Given the description of an element on the screen output the (x, y) to click on. 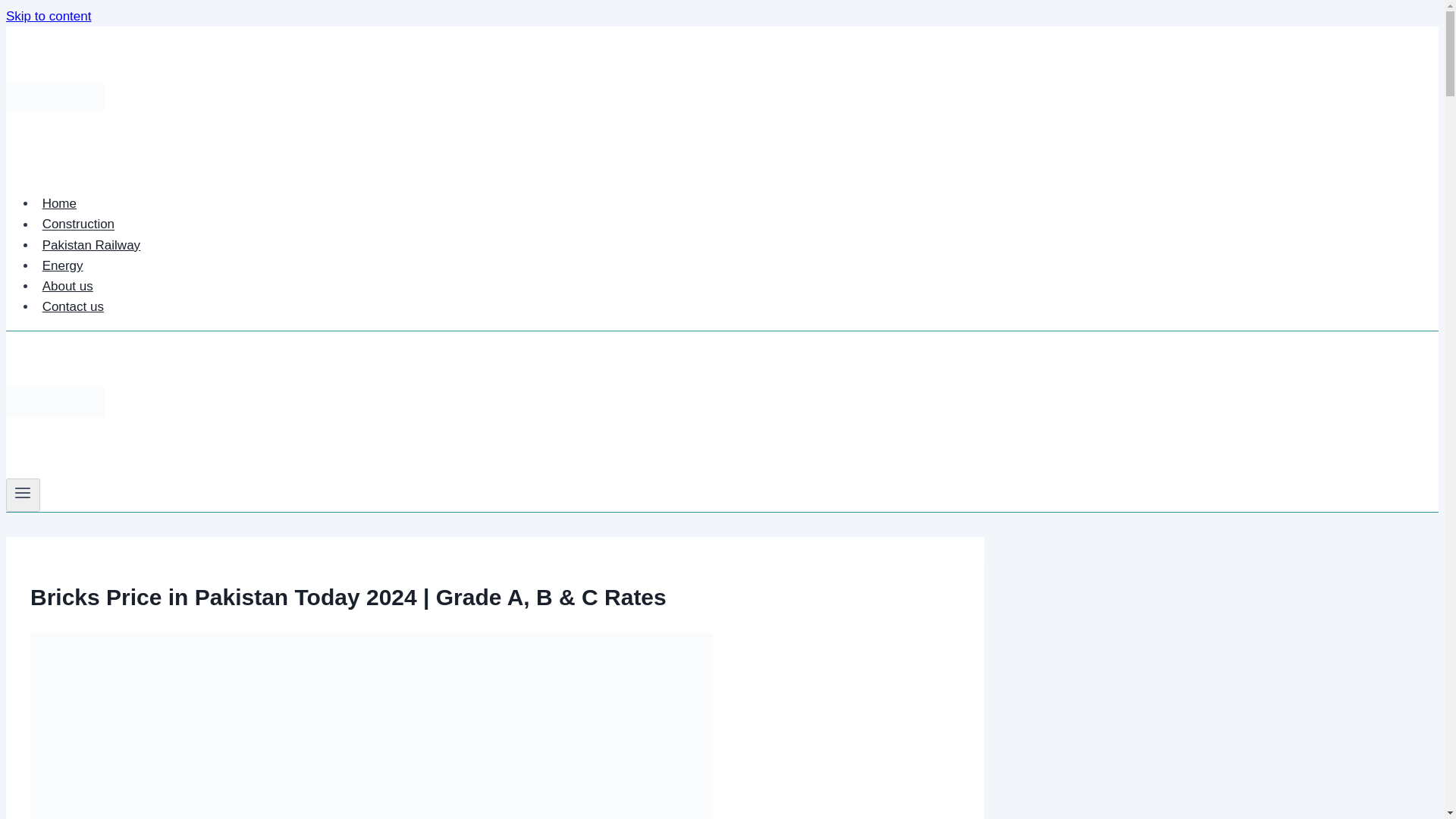
Contact us (73, 306)
Energy (62, 265)
Toggle Menu (22, 493)
Toggle Menu (22, 494)
Construction (78, 224)
About us (67, 286)
Home (59, 203)
Skip to content (47, 16)
Skip to content (47, 16)
Pakistan Railway (91, 245)
